Given the description of an element on the screen output the (x, y) to click on. 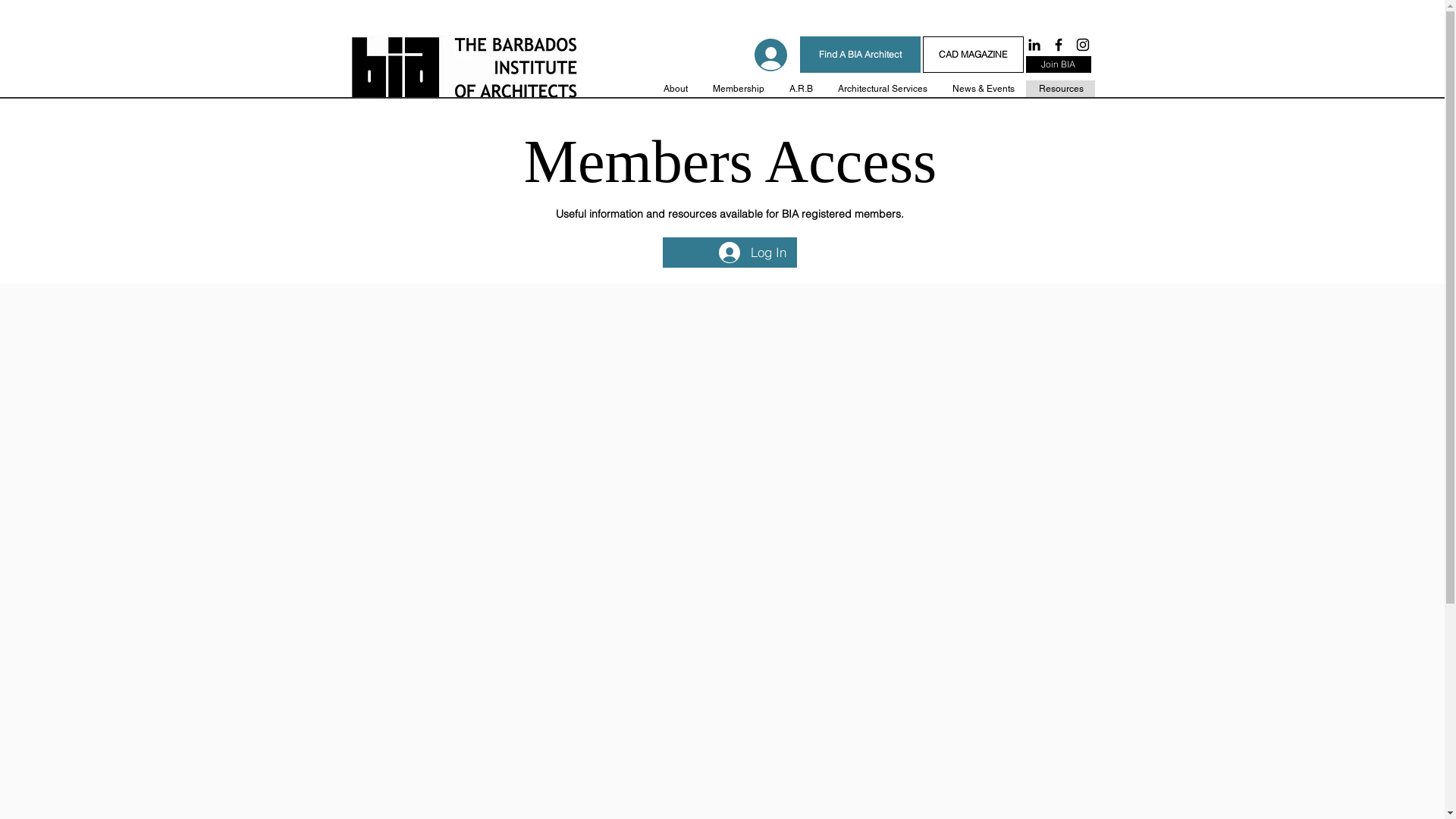
Architectural Services Element type: text (880, 88)
Find A BIA Architect Element type: text (859, 54)
Log In Element type: text (766, 54)
About Element type: text (674, 88)
CAD MAGAZINE Element type: text (972, 54)
News & Events Element type: text (982, 88)
Membership Element type: text (737, 88)
A.R.B Element type: text (799, 88)
Log In Element type: text (752, 252)
Resources Element type: text (1059, 88)
Join BIA Element type: text (1057, 64)
